Given the description of an element on the screen output the (x, y) to click on. 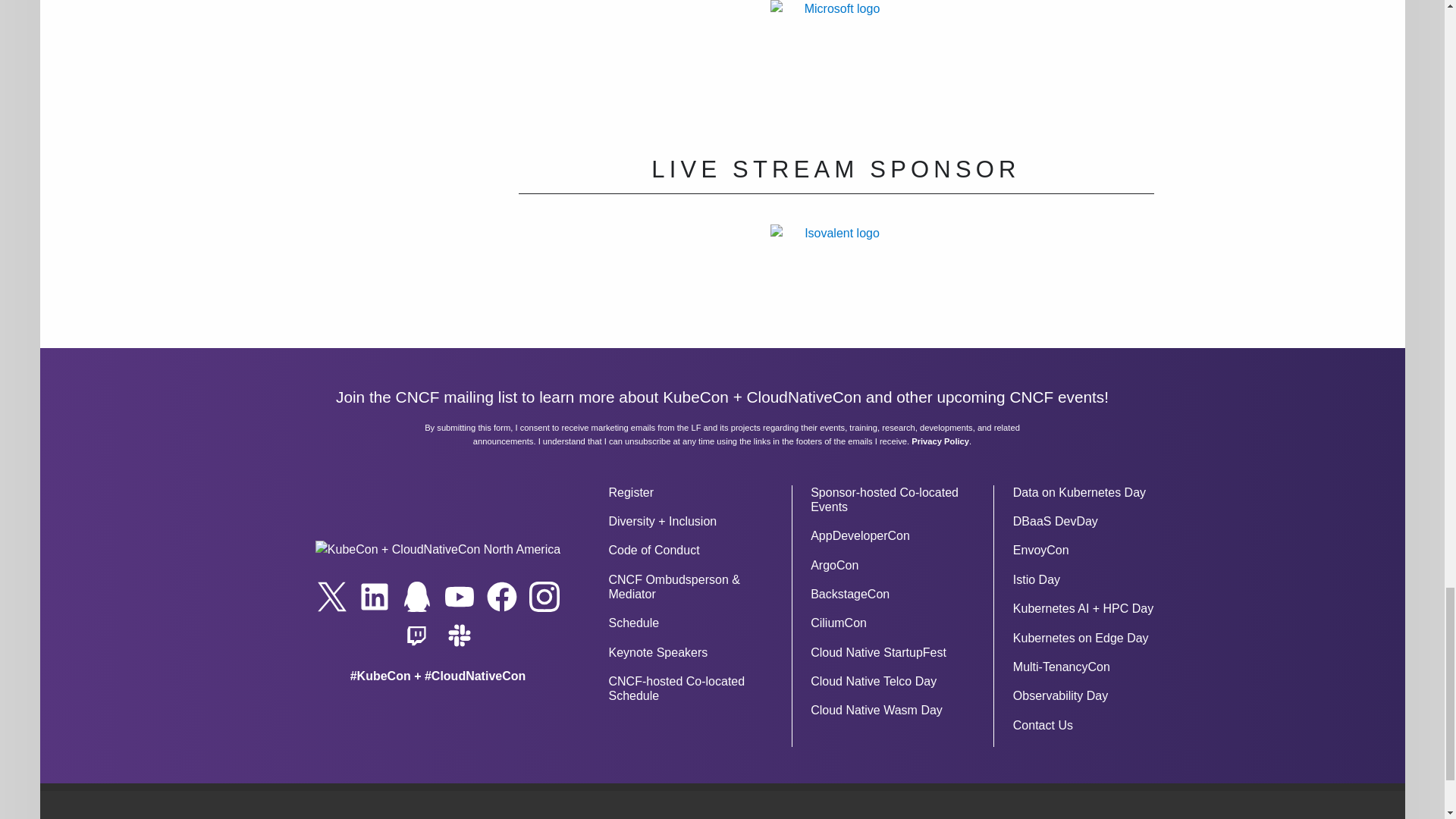
Instagram (544, 596)
Facebook (501, 596)
Linkedin (374, 596)
Twitch (416, 634)
YouTube (459, 596)
X (332, 596)
QQ (416, 596)
Go to Isovalent (836, 279)
Go to Microsoft (836, 55)
Slack (459, 634)
